Given the description of an element on the screen output the (x, y) to click on. 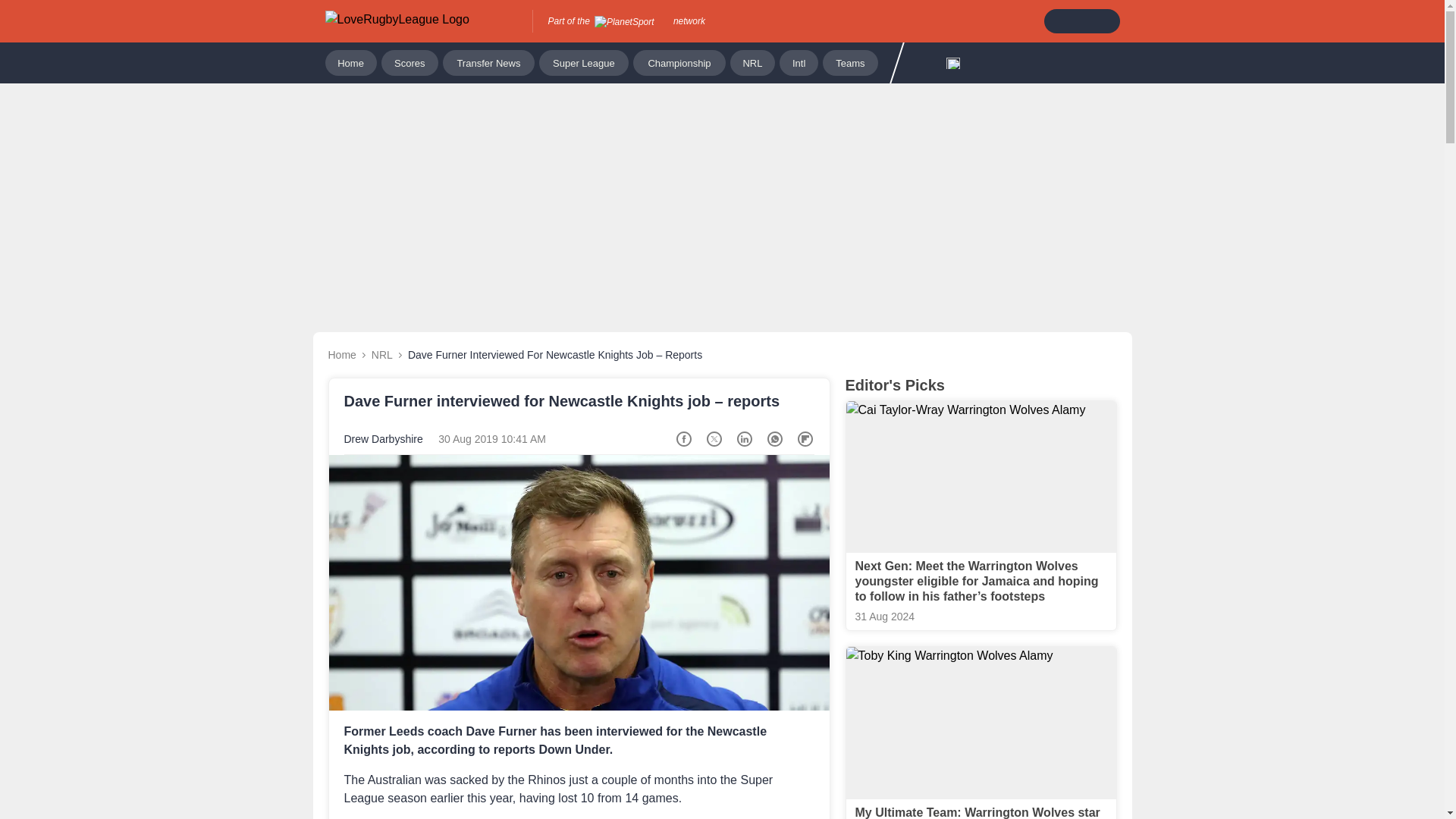
Championship (679, 62)
Intl (798, 62)
Transfer News (488, 62)
Scores (409, 62)
Drew Darbyshire (383, 439)
NRL (382, 354)
Home (349, 62)
Super League (583, 62)
Teams (849, 62)
Home (341, 354)
